Given the description of an element on the screen output the (x, y) to click on. 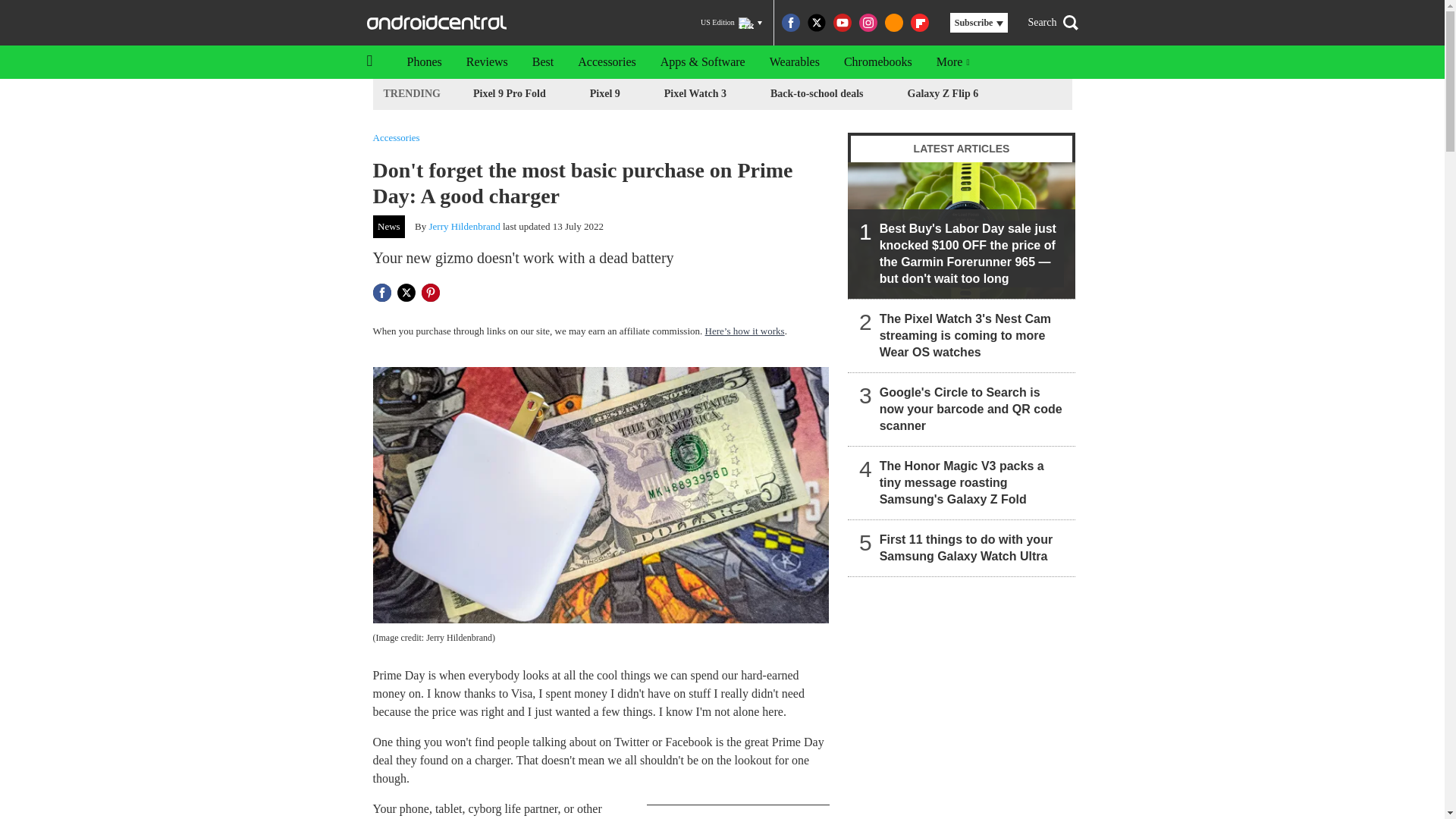
News (389, 226)
Jerry Hildenbrand (464, 225)
Back-to-school deals (817, 93)
Galaxy Z Flip 6 (943, 93)
Phones (423, 61)
Pixel 9 Pro Fold (509, 93)
Wearables (794, 61)
US Edition (731, 22)
Best (542, 61)
Accessories (396, 137)
